Given the description of an element on the screen output the (x, y) to click on. 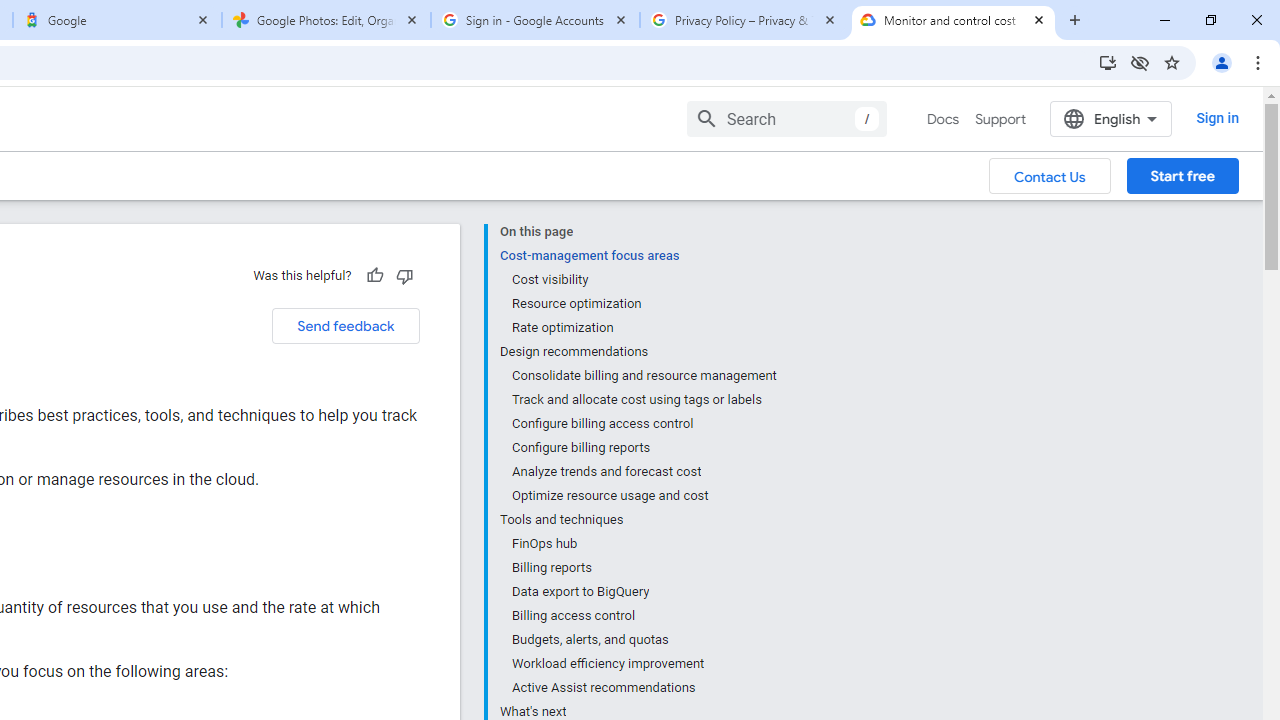
Optimize resource usage and cost (643, 495)
Install Google Cloud (1107, 62)
Analyze trends and forecast cost (643, 471)
What's next (637, 709)
English (1110, 118)
Start free (1182, 175)
Resource optimization (643, 304)
Helpful (374, 275)
Rate optimization (643, 327)
